Given the description of an element on the screen output the (x, y) to click on. 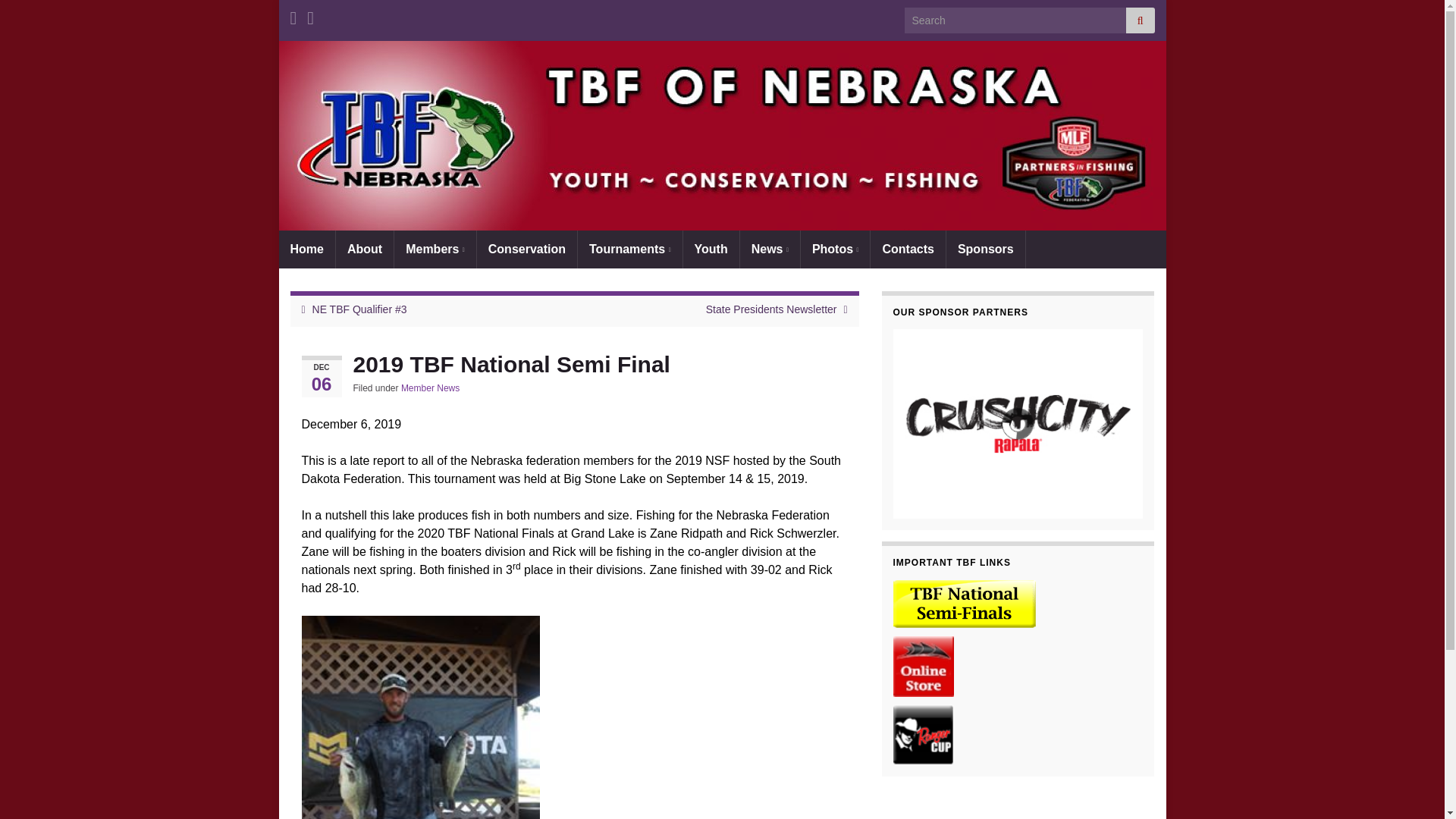
Photos (835, 249)
Conservation (526, 249)
Member News (430, 388)
Youth (710, 249)
Home (306, 249)
Members (435, 249)
Contacts (907, 249)
Sponsors (985, 249)
About (364, 249)
News (769, 249)
State Presidents Newsletter (771, 309)
Tournaments (630, 249)
